Given the description of an element on the screen output the (x, y) to click on. 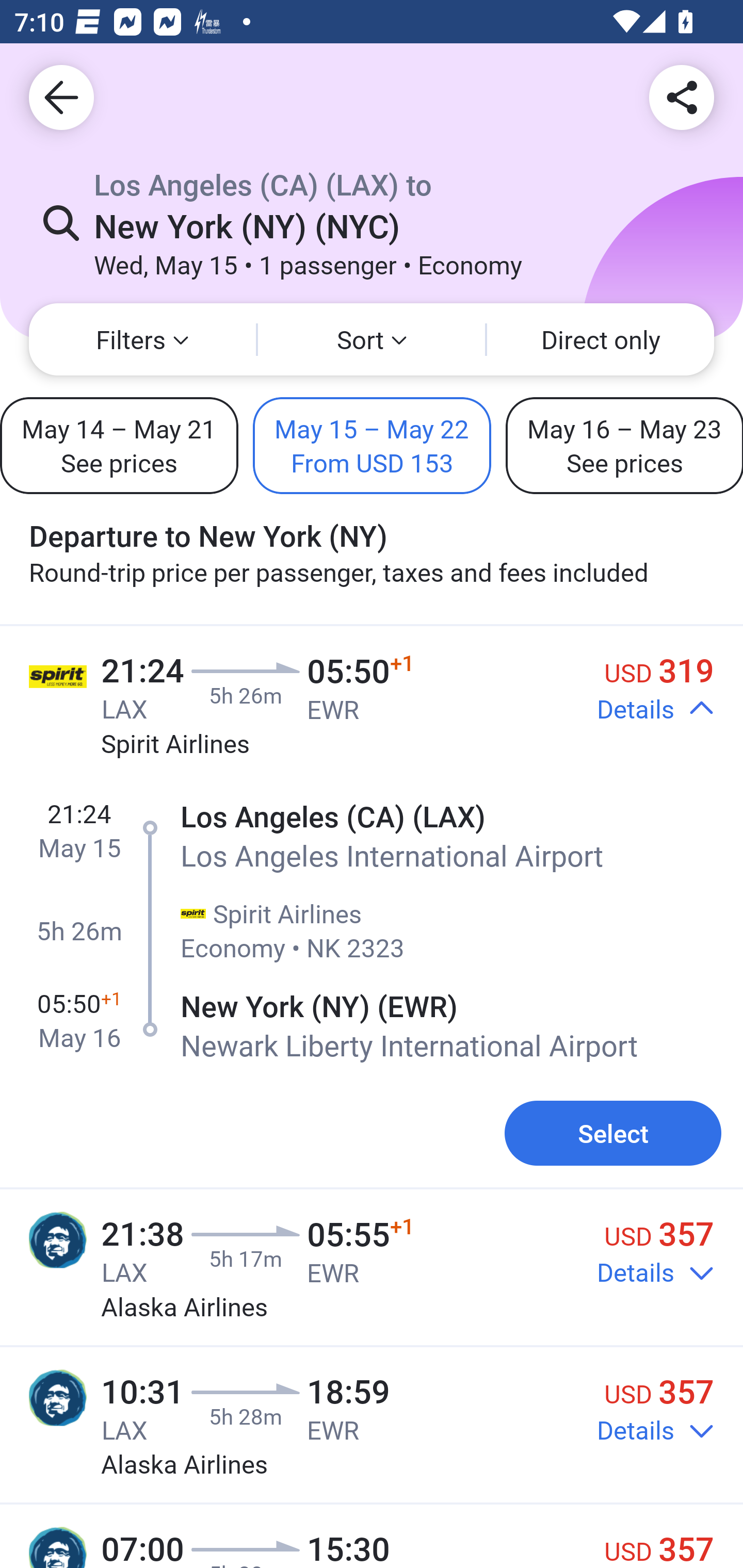
Filters (141, 339)
Sort (371, 339)
Direct only (600, 339)
May 14 – May 21 See prices (119, 444)
May 15 – May 22 From USD 153 (371, 444)
May 16 – May 23 See prices (624, 444)
Select (612, 1132)
07:00 stop over arrow 5h 30m 15:30 USD 357 (371, 1536)
